Given the description of an element on the screen output the (x, y) to click on. 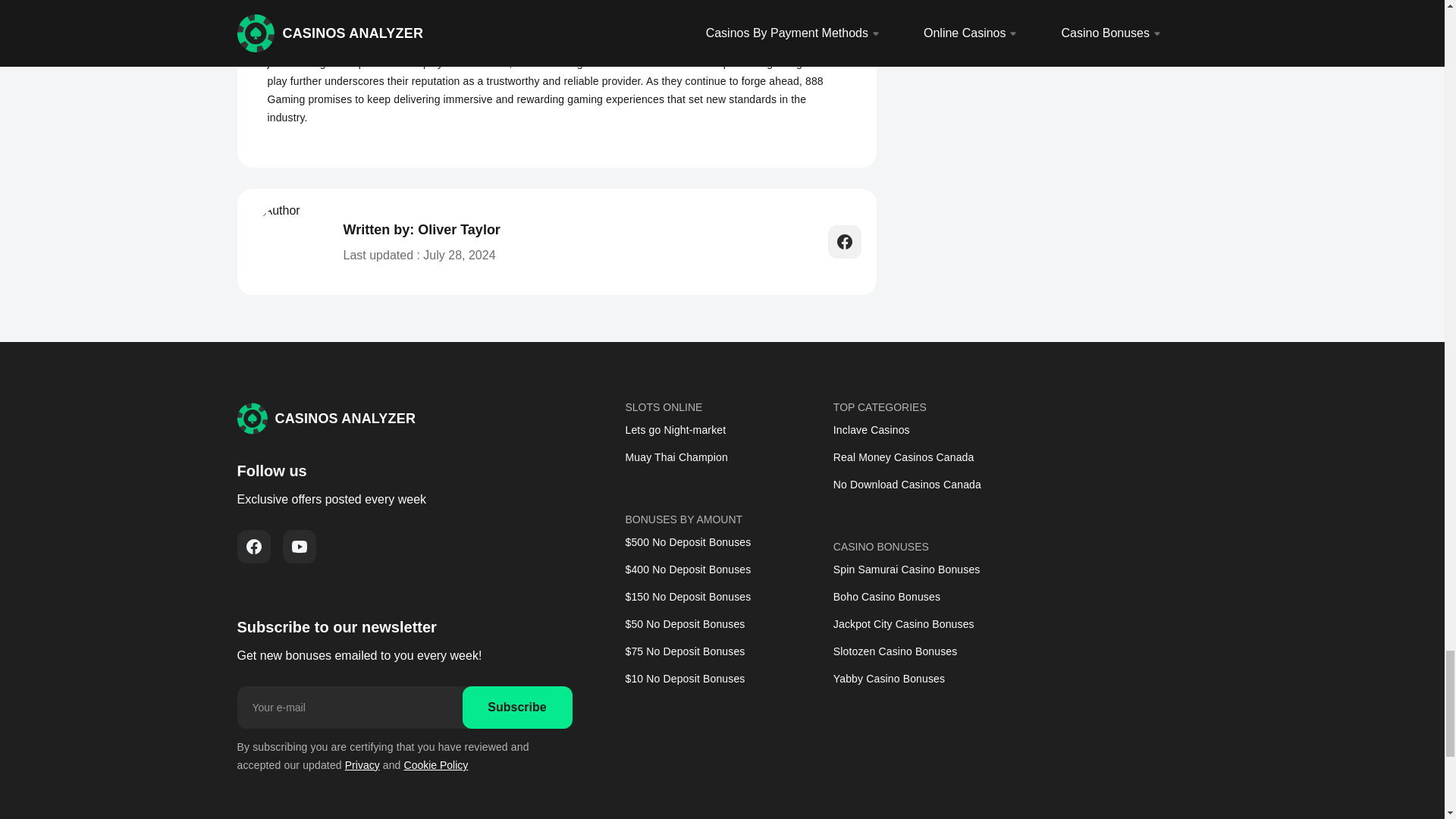
author's facebook.com page (844, 241)
Subscribe (517, 707)
